Given the description of an element on the screen output the (x, y) to click on. 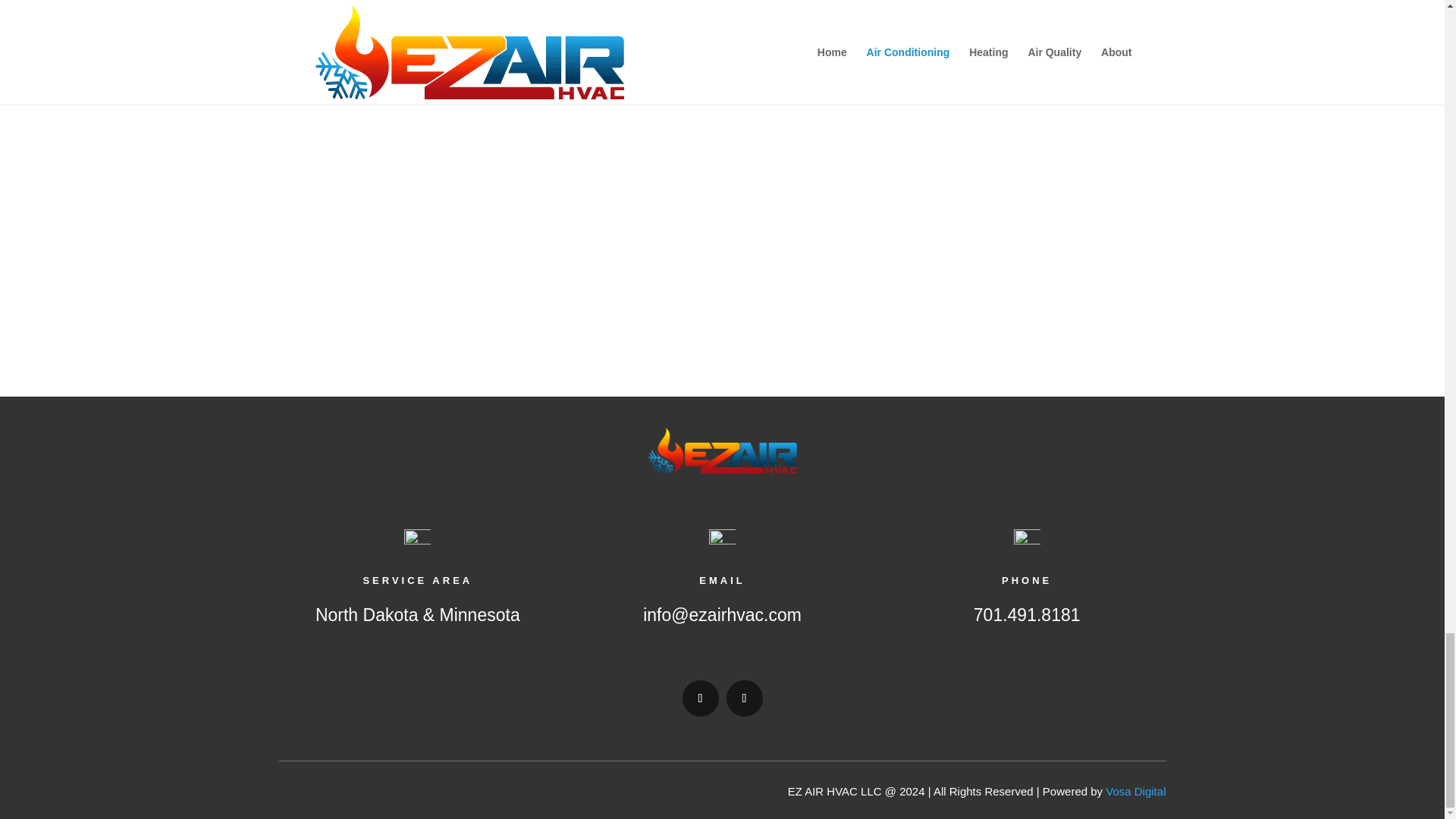
Vosa Digital (1135, 790)
Follow on Facebook (700, 698)
Full Color (689, 440)
Follow on Instagram (744, 698)
Vosa Digital (1135, 790)
